Given the description of an element on the screen output the (x, y) to click on. 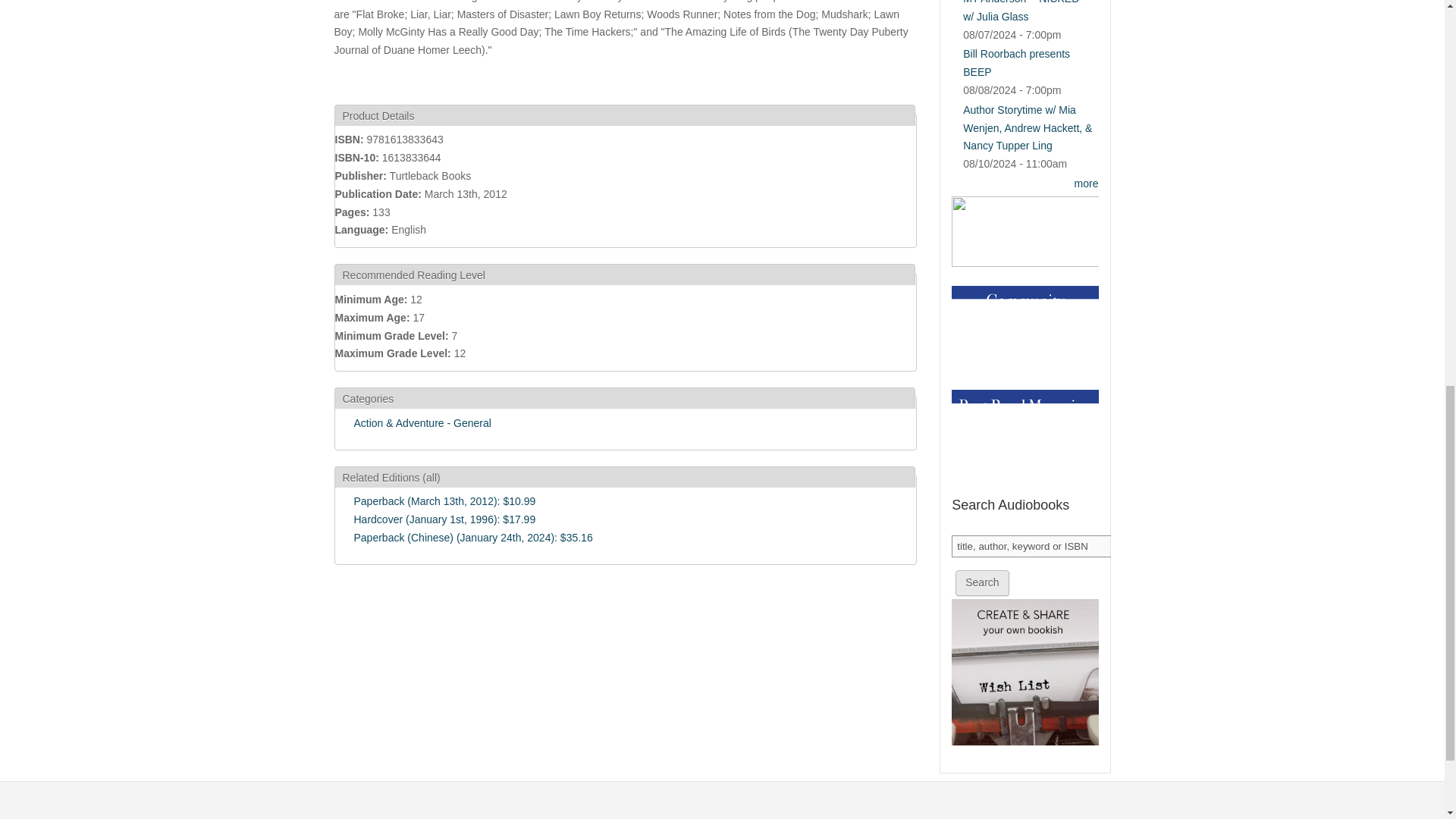
Search (982, 583)
Enter title, author, keyword or ISBN. (1033, 546)
title, author, keyword or ISBN (1033, 546)
